Given the description of an element on the screen output the (x, y) to click on. 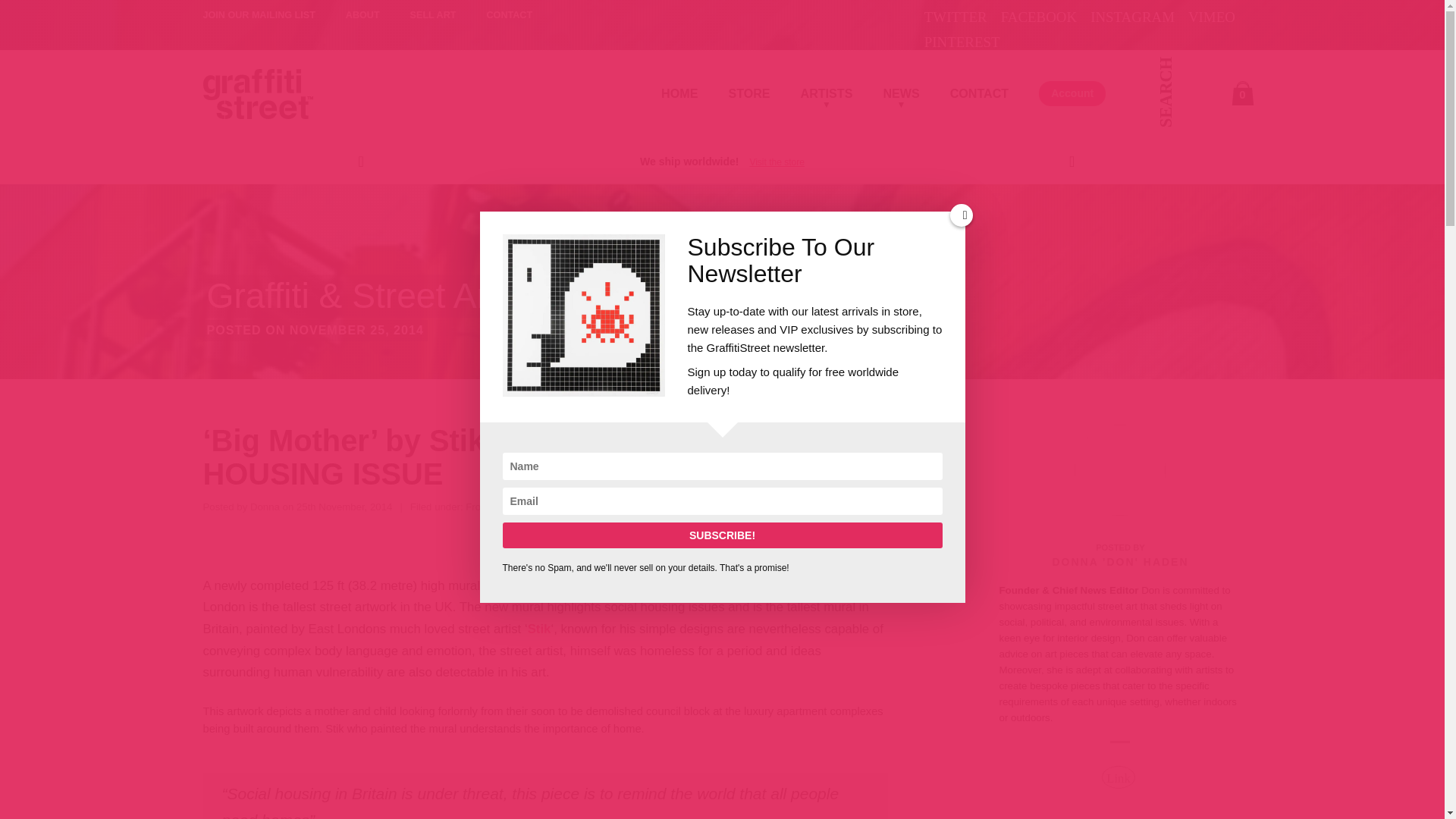
GraffitiStreet (258, 93)
INSTAGRAM (1132, 17)
ARTISTS (826, 76)
VIMEO (1211, 17)
Posts by Donna (264, 506)
TWITTER (955, 17)
SELL ART (433, 15)
JOIN OUR MAILING LIST (259, 15)
ABOUT (363, 15)
PINTEREST (962, 41)
CONTACT (509, 15)
FACEBOOK (1039, 17)
